Given the description of an element on the screen output the (x, y) to click on. 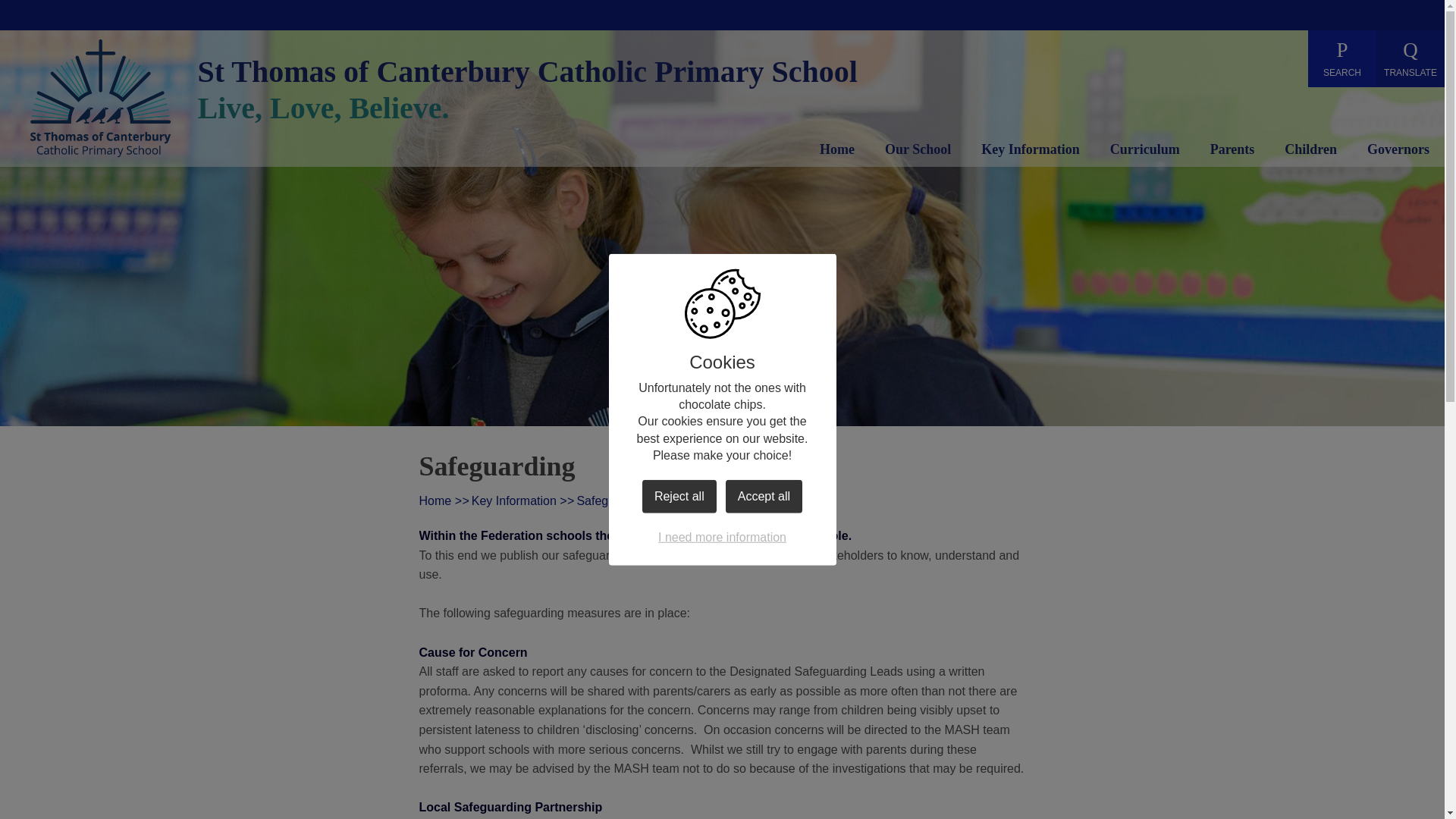
Home (836, 152)
Our School (917, 152)
Home Page (100, 97)
Key Information (1030, 152)
